Given the description of an element on the screen output the (x, y) to click on. 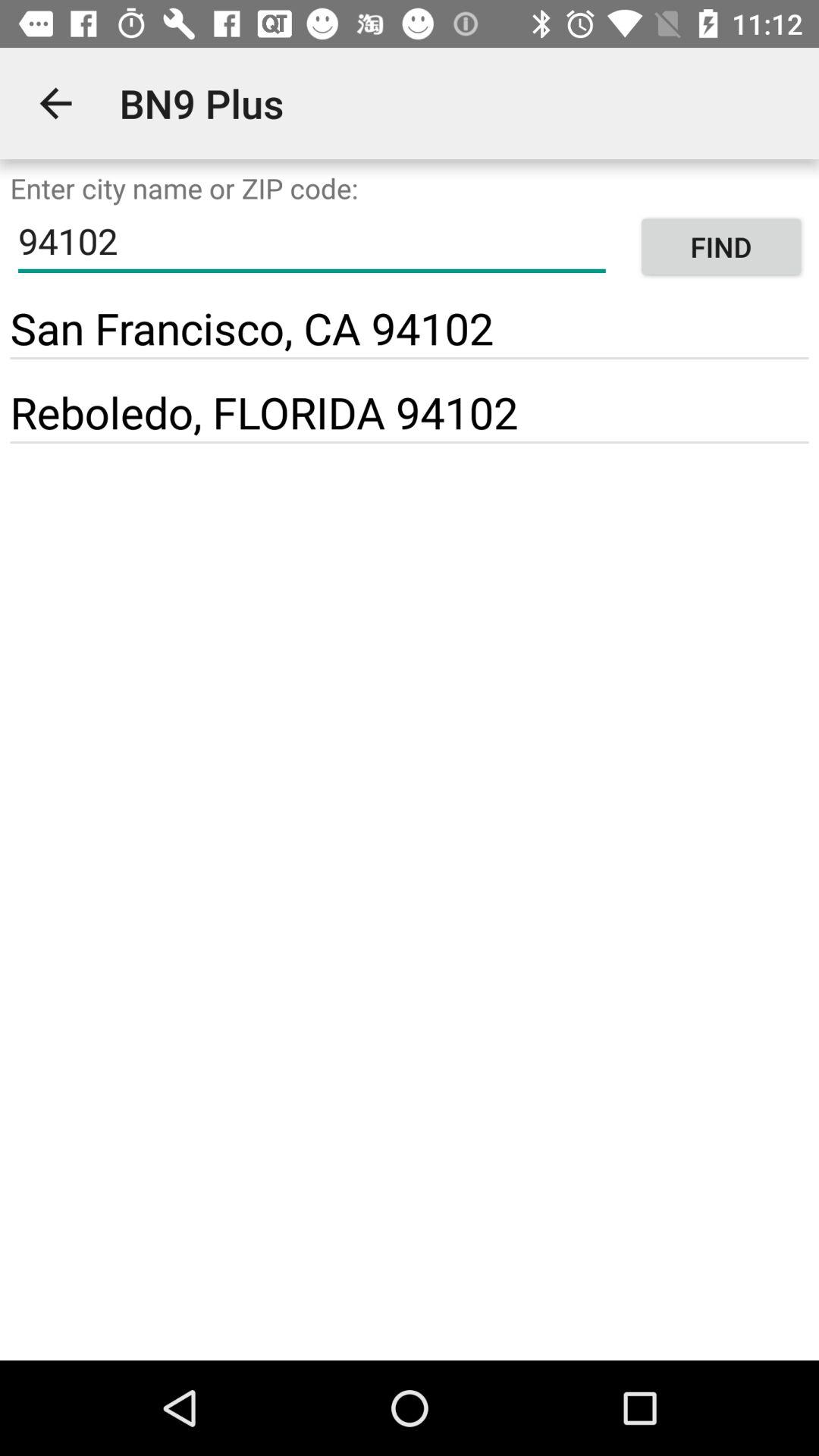
tap the icon below the san francisco ca icon (409, 358)
